Given the description of an element on the screen output the (x, y) to click on. 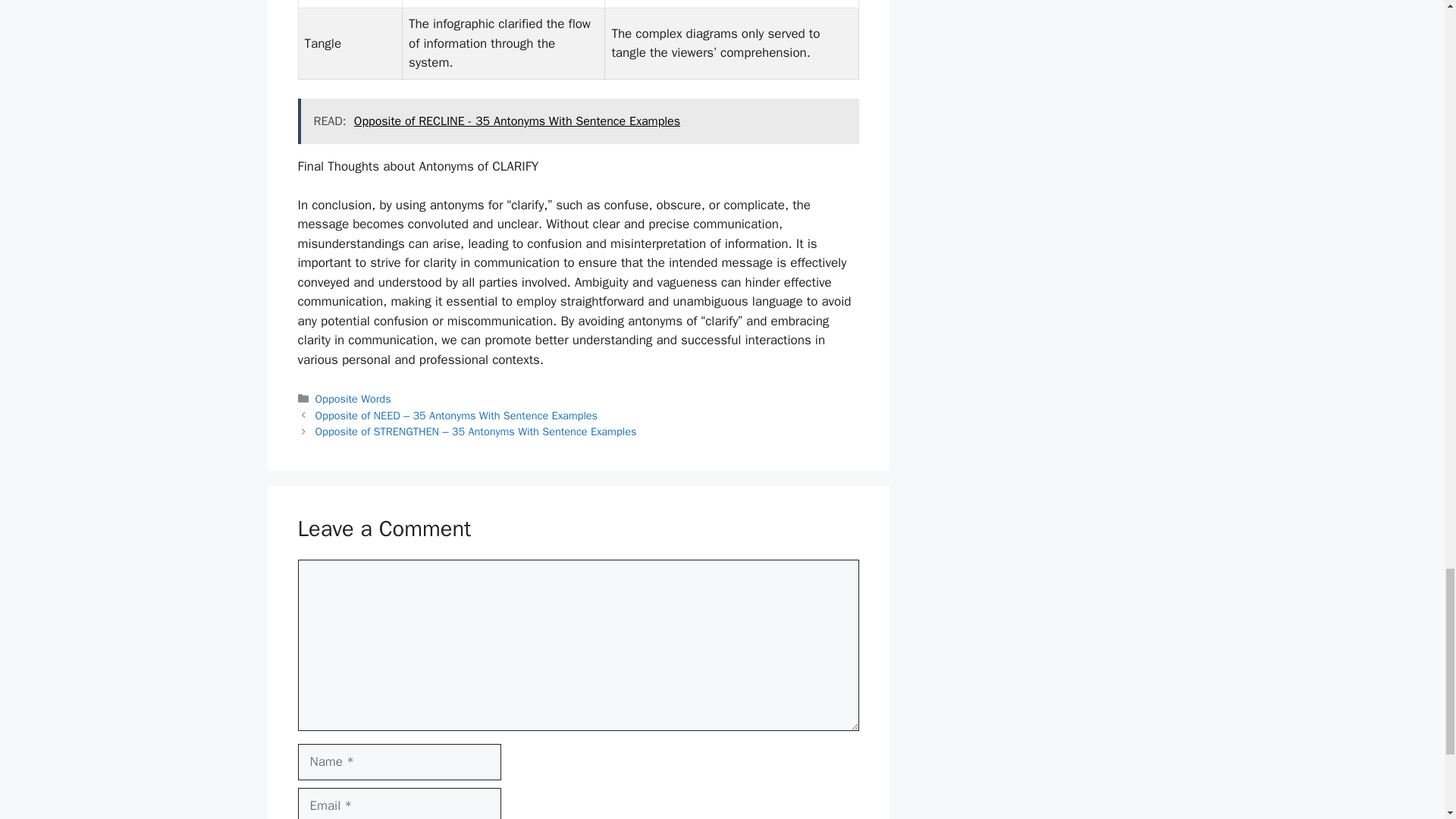
Opposite Words (353, 398)
